Given the description of an element on the screen output the (x, y) to click on. 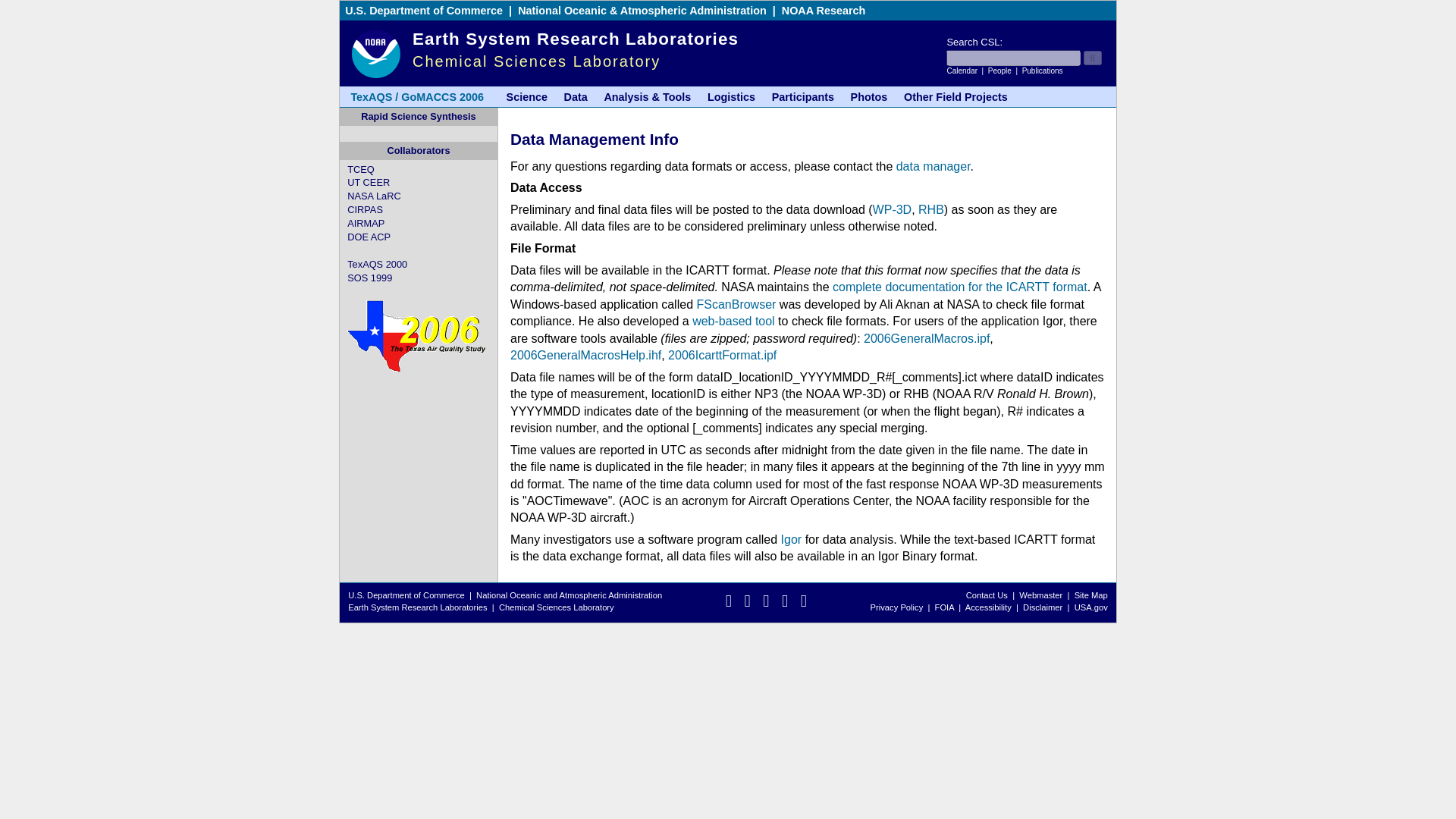
link leaves NOAA domain (791, 539)
Earth System Research Laboratories (575, 38)
Chemical Sciences Laboratory (536, 61)
link leaves NOAA domain (959, 286)
U.S. Department of Commerce (423, 10)
link leaves NOAA domain (360, 169)
link leaves NOAA domain (365, 223)
link leaves NOAA domain (423, 10)
link leaves NOAA domain (733, 320)
link leaves NOAA domain (735, 304)
NOAA Research (823, 10)
Science (526, 96)
NOAA ESRL facebook (728, 603)
link leaves NOAA domain (368, 182)
link leaves NOAA domain (364, 209)
